Given the description of an element on the screen output the (x, y) to click on. 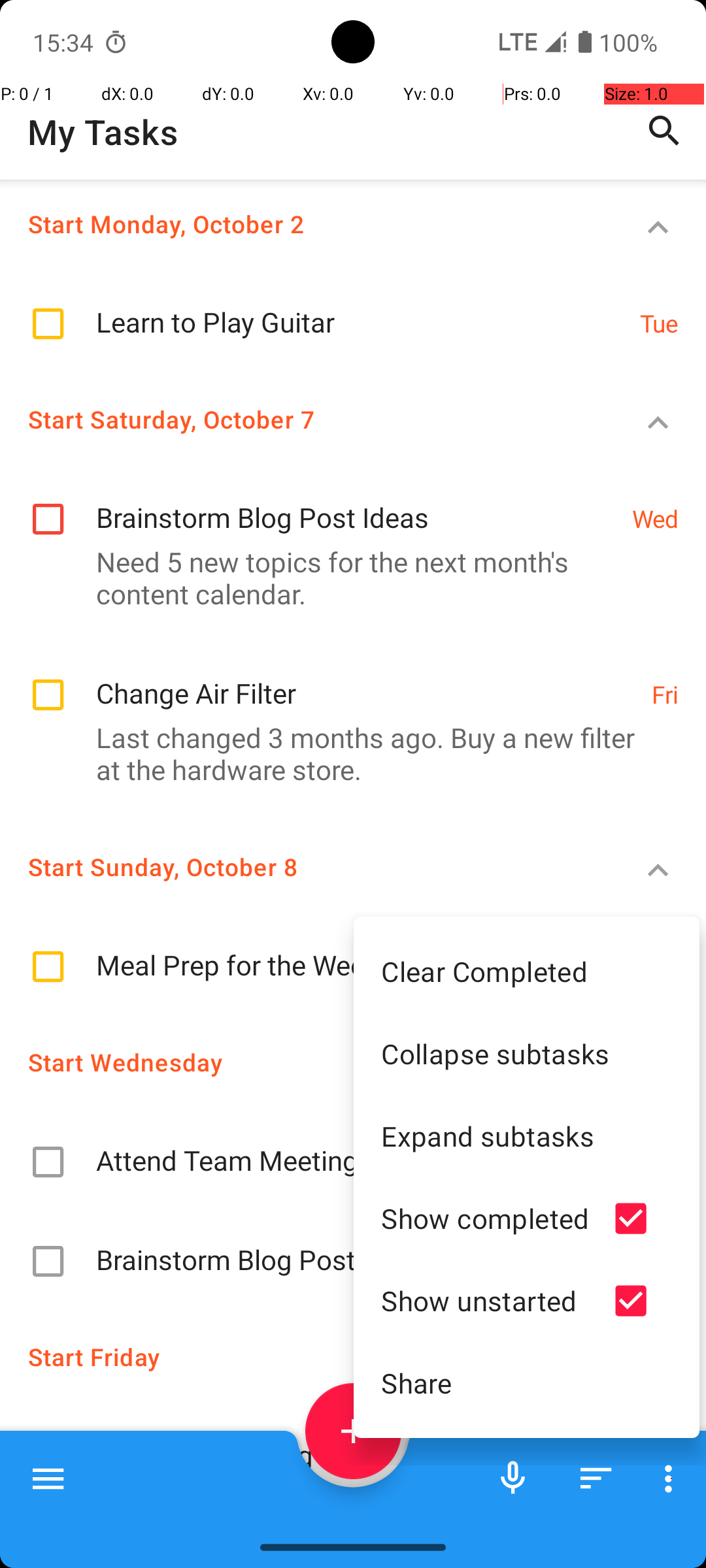
Clear Completed Element type: android.widget.TextView (526, 970)
Collapse subtasks Element type: android.widget.TextView (526, 1053)
Expand subtasks Element type: android.widget.TextView (526, 1135)
Show completed Element type: android.widget.TextView (485, 1217)
Show unstarted Element type: android.widget.TextView (485, 1300)
